Given the description of an element on the screen output the (x, y) to click on. 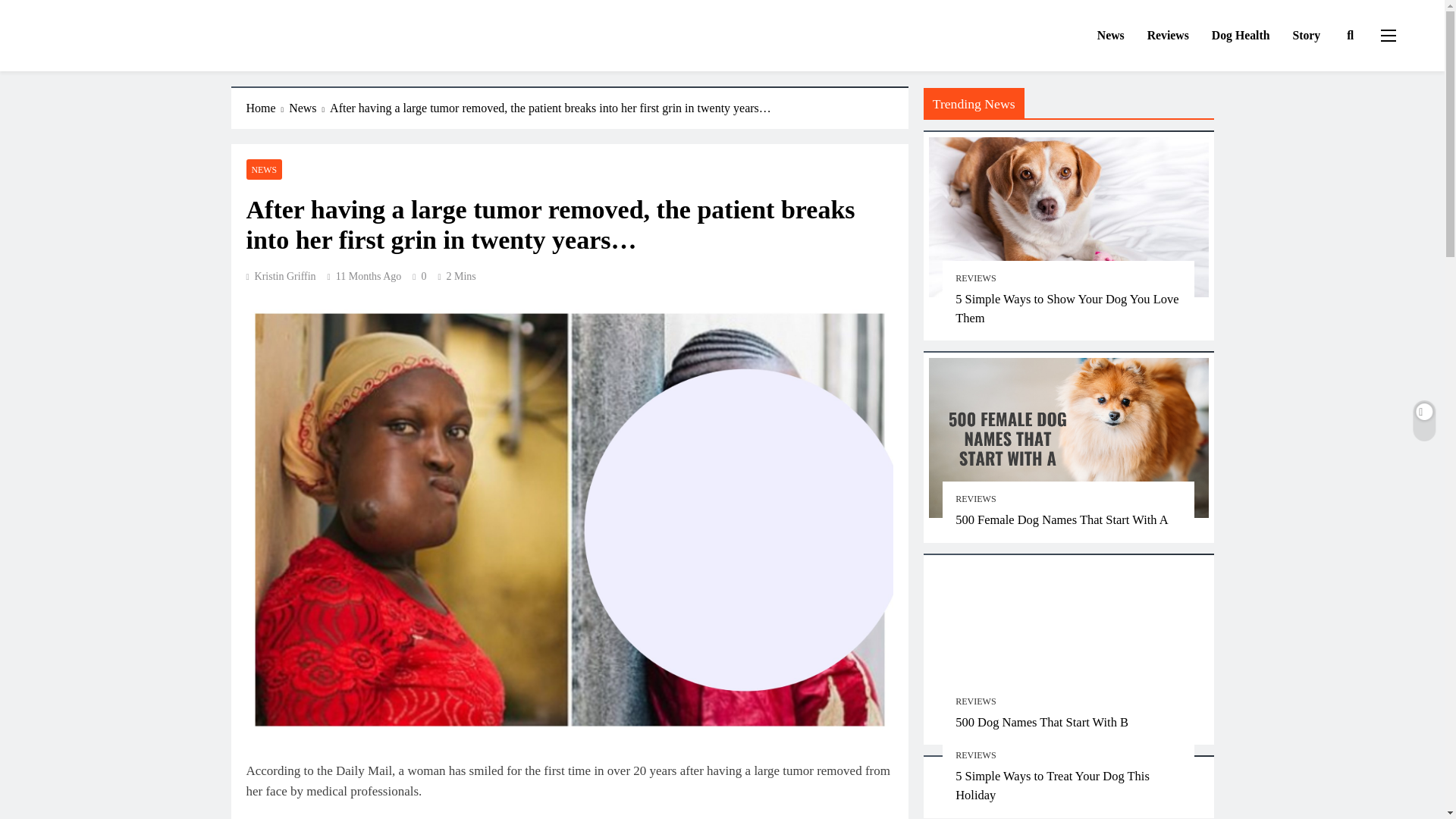
500 Dog Names That Start With B (1041, 721)
DogForms (94, 52)
Reviews (1167, 35)
News (309, 108)
Dog Health (1240, 35)
REVIEWS (975, 701)
REVIEWS (975, 755)
11 Months Ago (368, 276)
NEWS (264, 168)
News (1110, 35)
